Given the description of an element on the screen output the (x, y) to click on. 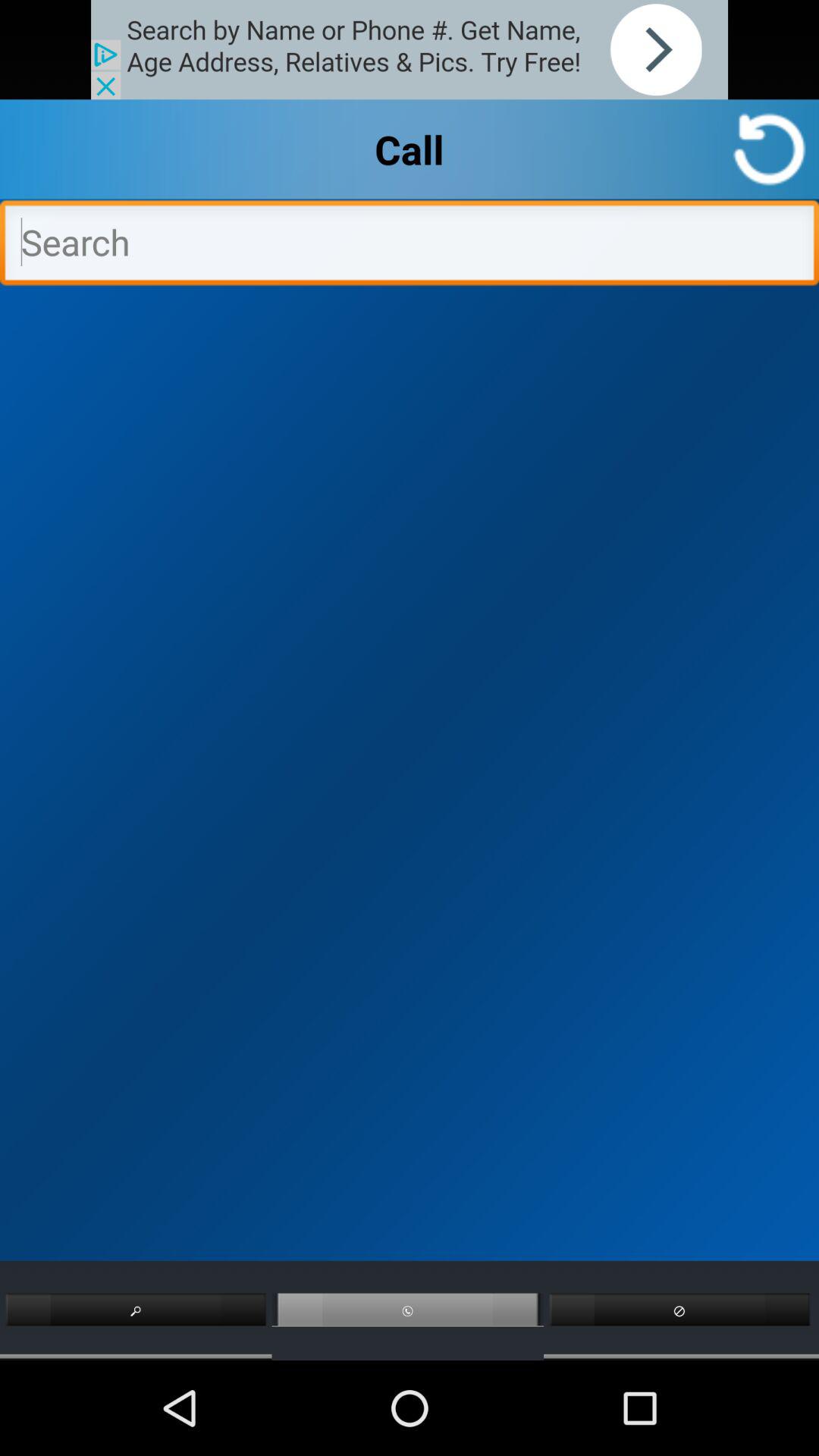
enter search (409, 246)
